Given the description of an element on the screen output the (x, y) to click on. 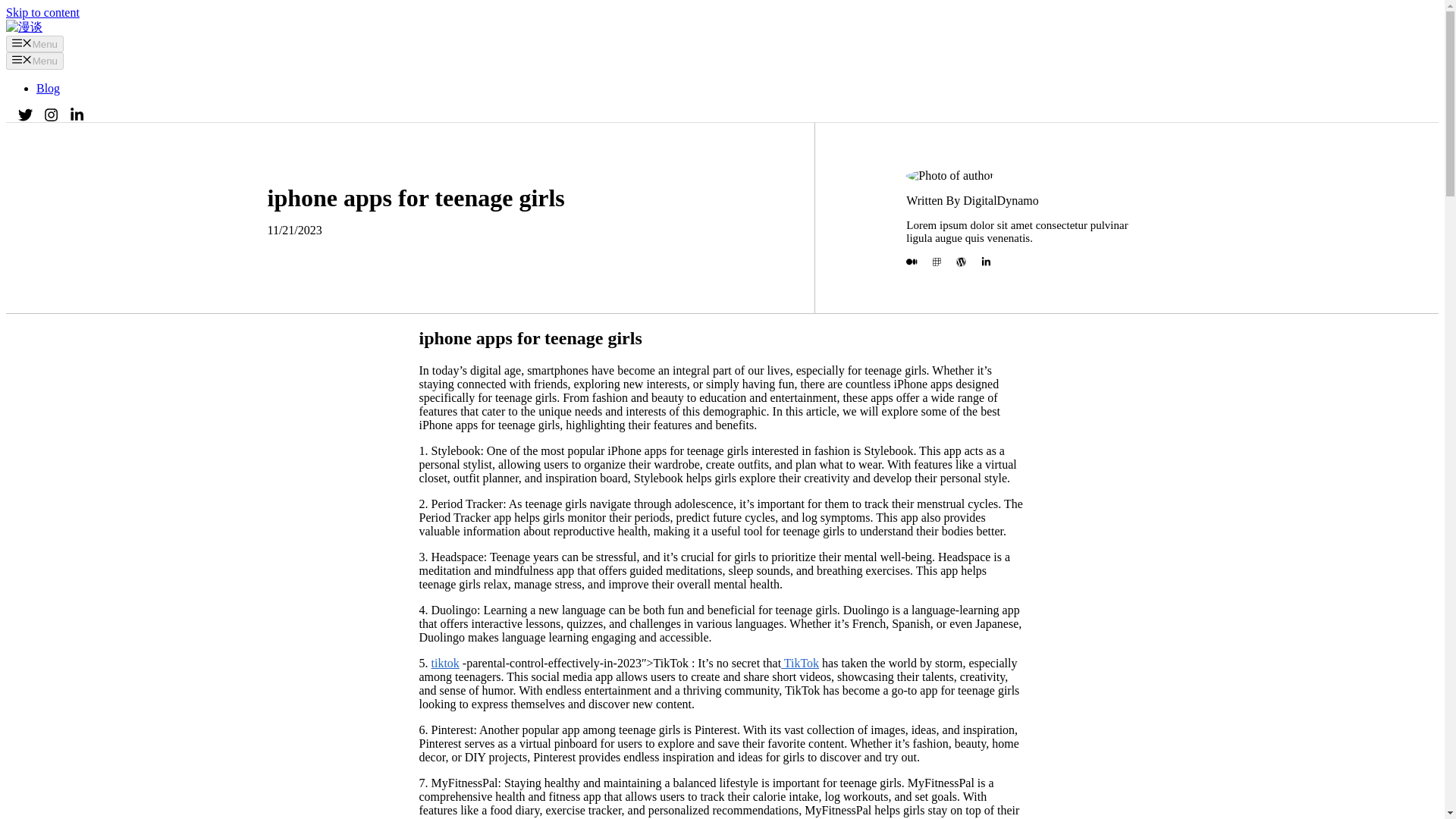
Menu (34, 60)
Blog (47, 88)
tiktok (444, 662)
Skip to content (42, 11)
TikTok (799, 662)
Menu (34, 44)
Skip to content (42, 11)
